Given the description of an element on the screen output the (x, y) to click on. 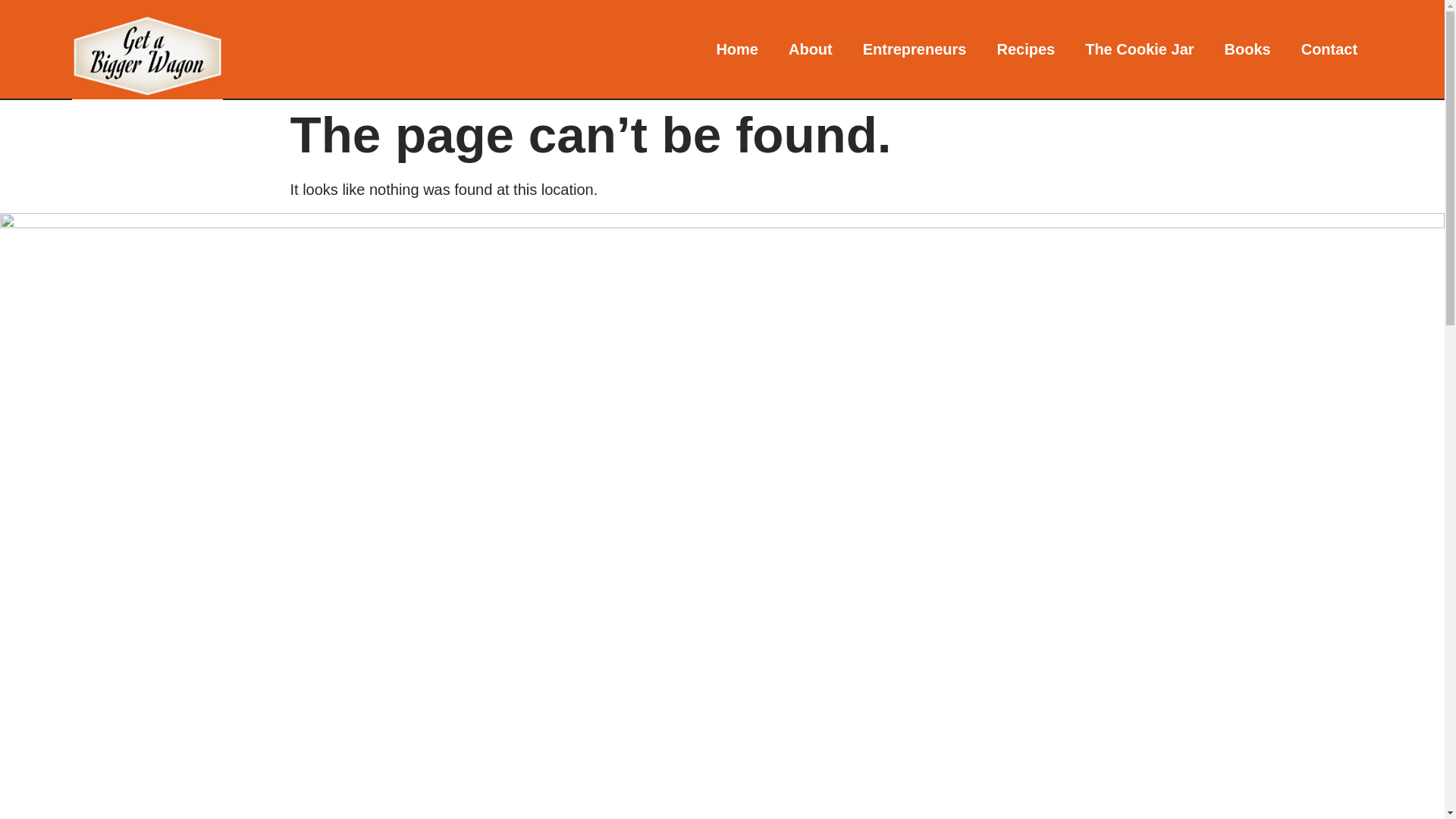
The Cookie Jar (1139, 48)
Contact (1329, 48)
Entrepreneurs (914, 48)
Books (1247, 48)
Home (736, 48)
Recipes (1025, 48)
About (810, 48)
